Given the description of an element on the screen output the (x, y) to click on. 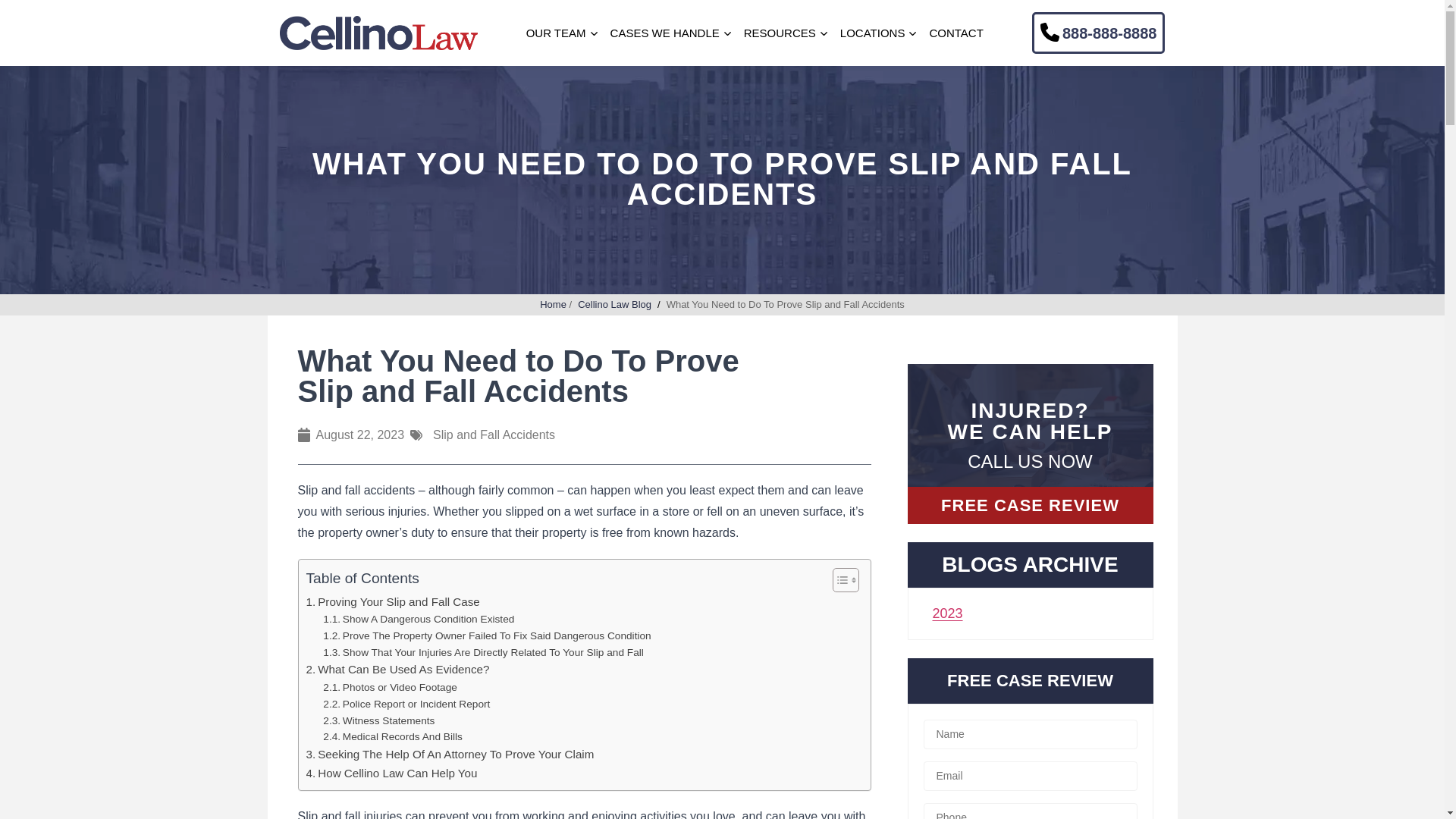
Witness Statements (378, 720)
Medical Records And Bills (393, 736)
What Can Be Used As Evidence? (397, 669)
CASES WE HANDLE (664, 33)
RESOURCES (779, 33)
Show A Dangerous Condition Existed (418, 619)
OUR TEAM (555, 33)
Seeking The Help Of An Attorney To Prove Your Claim (449, 754)
How Cellino Law Can Help You (391, 773)
Photos or Video Footage (390, 687)
